Given the description of an element on the screen output the (x, y) to click on. 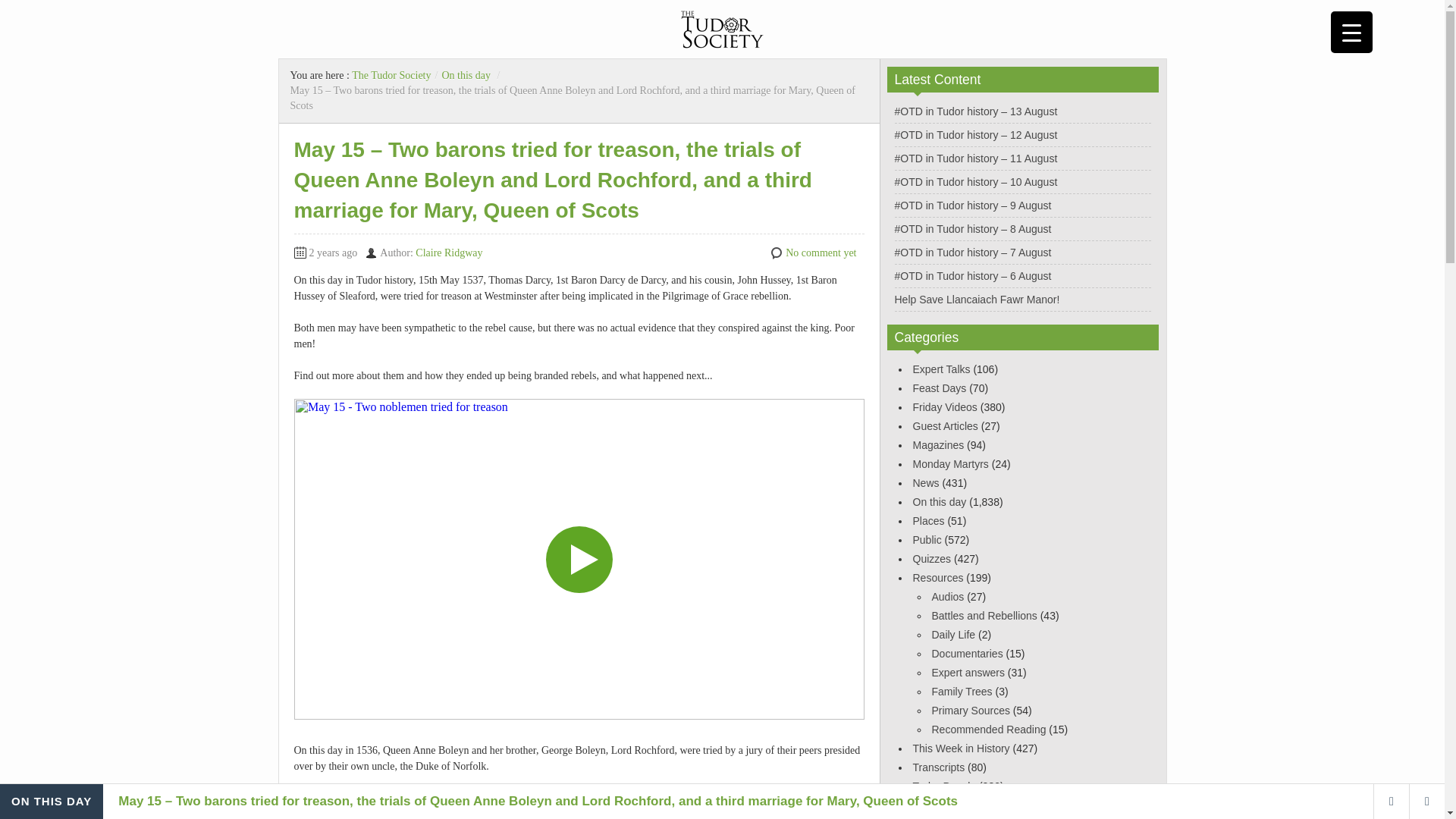
Claire Ridgway (447, 252)
No comment yet (821, 252)
Feast Days (939, 387)
On this day (465, 75)
Help Save Llancaiach Fawr Manor! (977, 299)
Expert Talks (941, 369)
Magazines (937, 444)
Guest Articles (945, 426)
Monday Martyrs (950, 463)
